Given the description of an element on the screen output the (x, y) to click on. 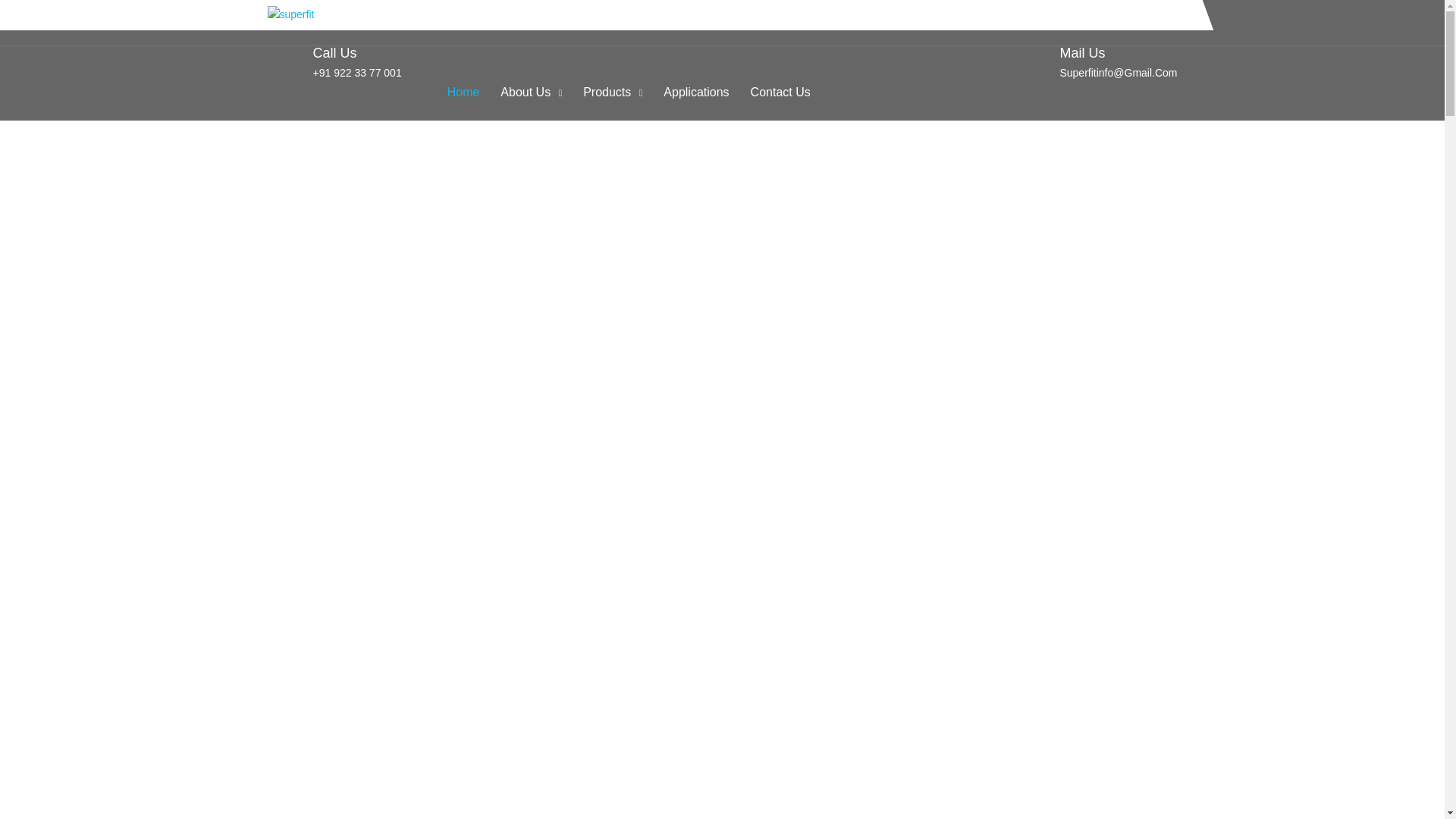
About Us (531, 92)
Applications (696, 92)
Products (612, 92)
Home (463, 92)
Contact Us (780, 92)
